Given the description of an element on the screen output the (x, y) to click on. 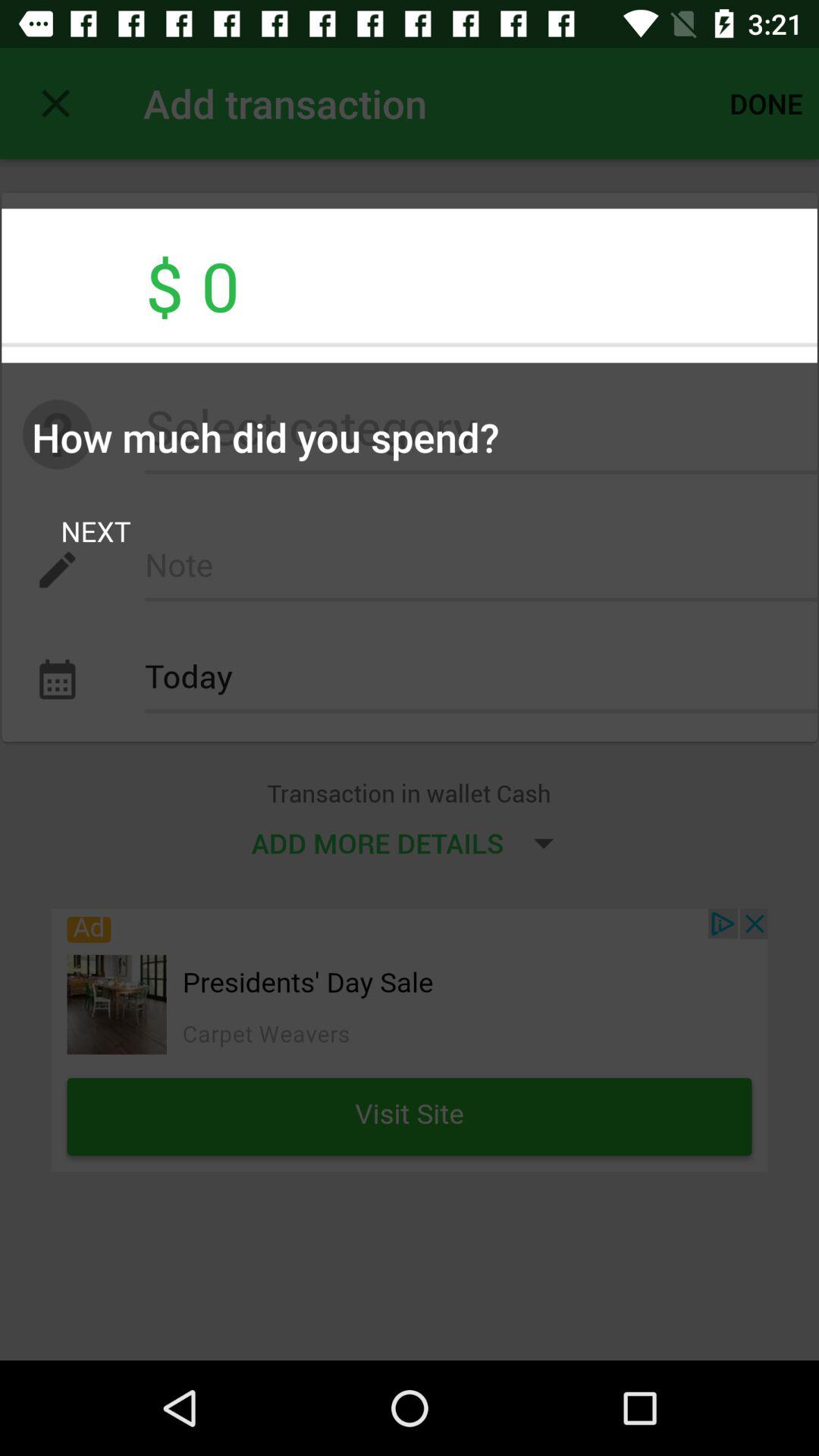
click the icon above the $ 0 item (766, 103)
